Given the description of an element on the screen output the (x, y) to click on. 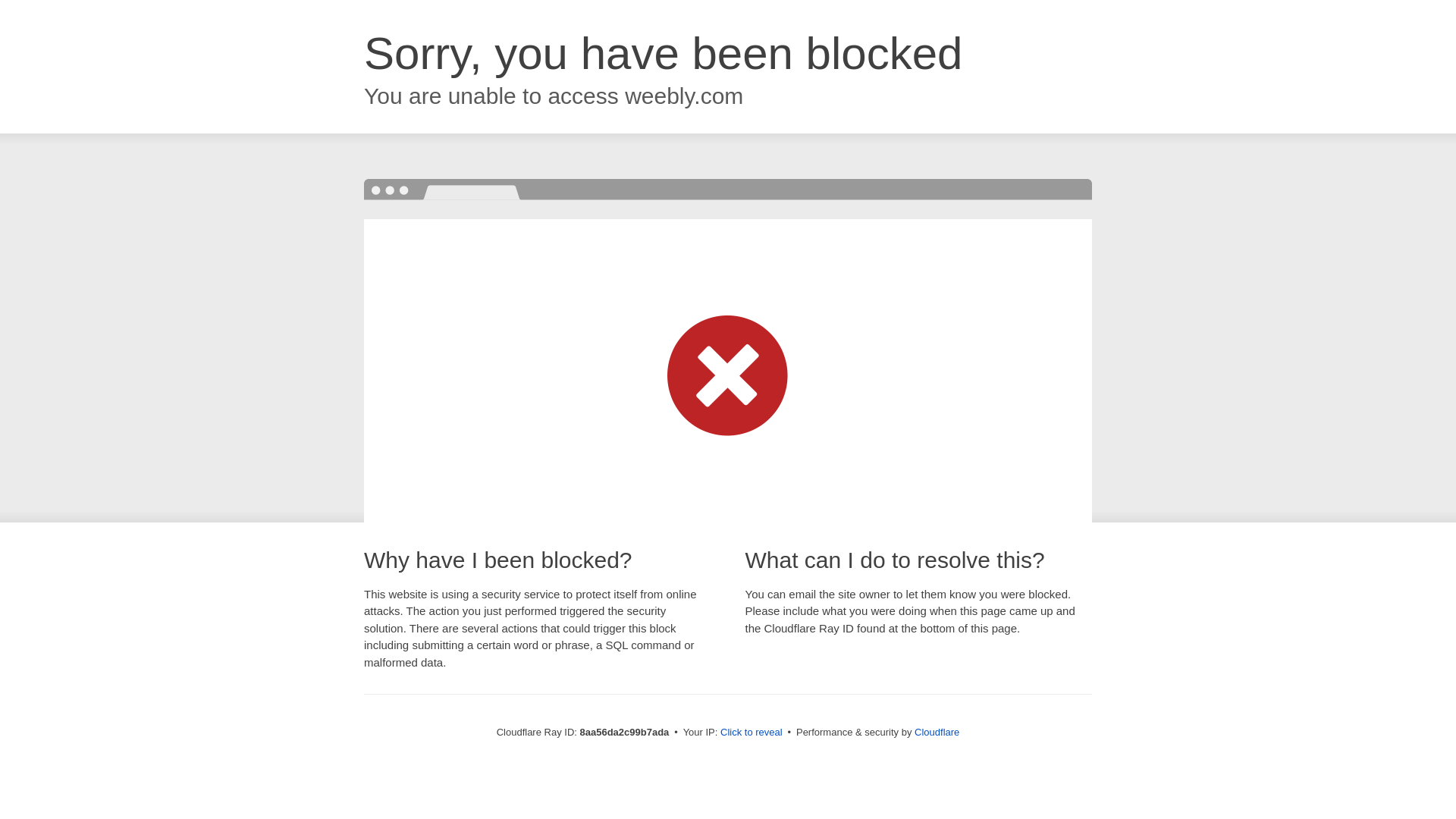
Cloudflare (936, 731)
Click to reveal (751, 732)
